Given the description of an element on the screen output the (x, y) to click on. 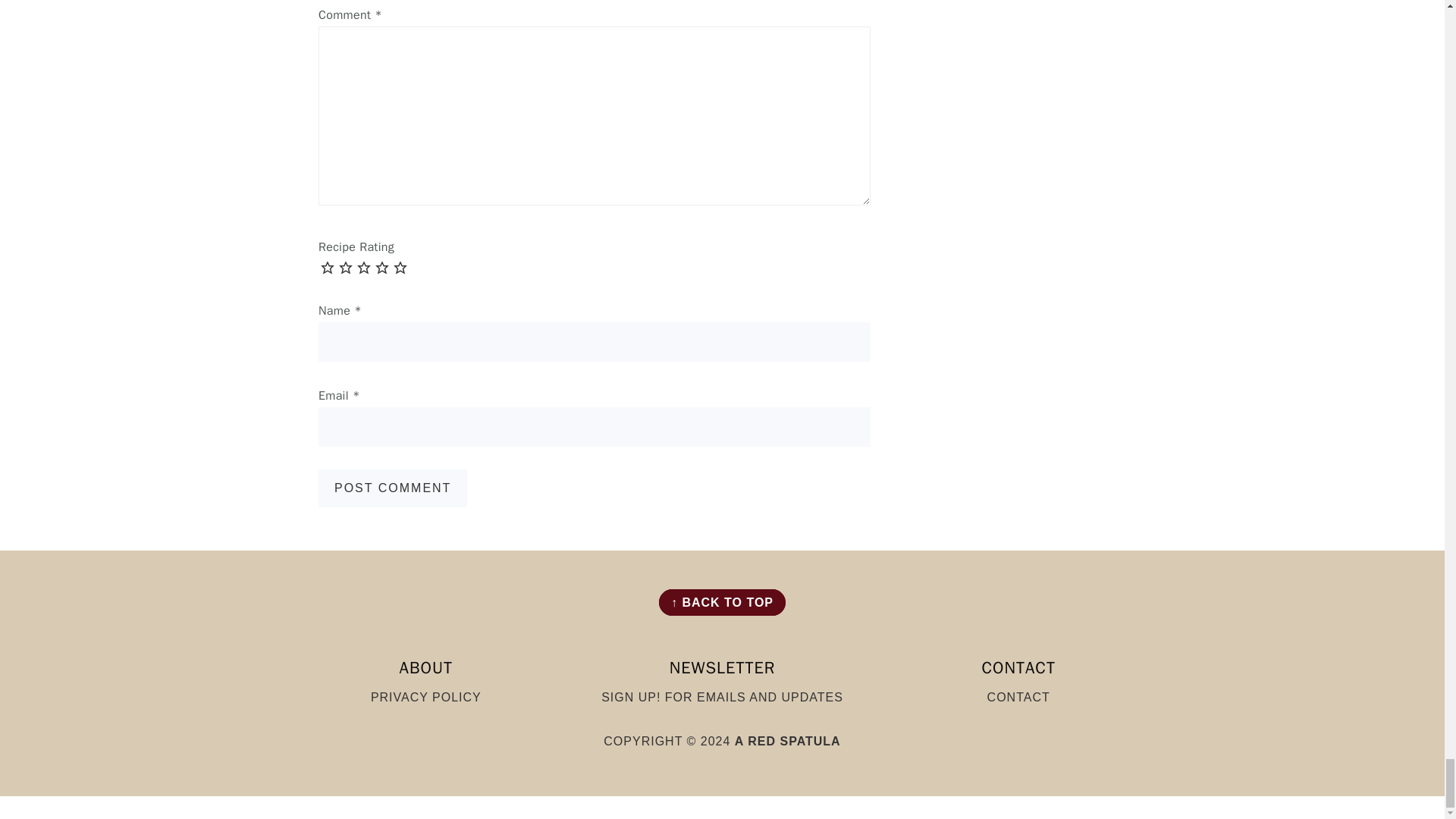
Post Comment (392, 487)
